Given the description of an element on the screen output the (x, y) to click on. 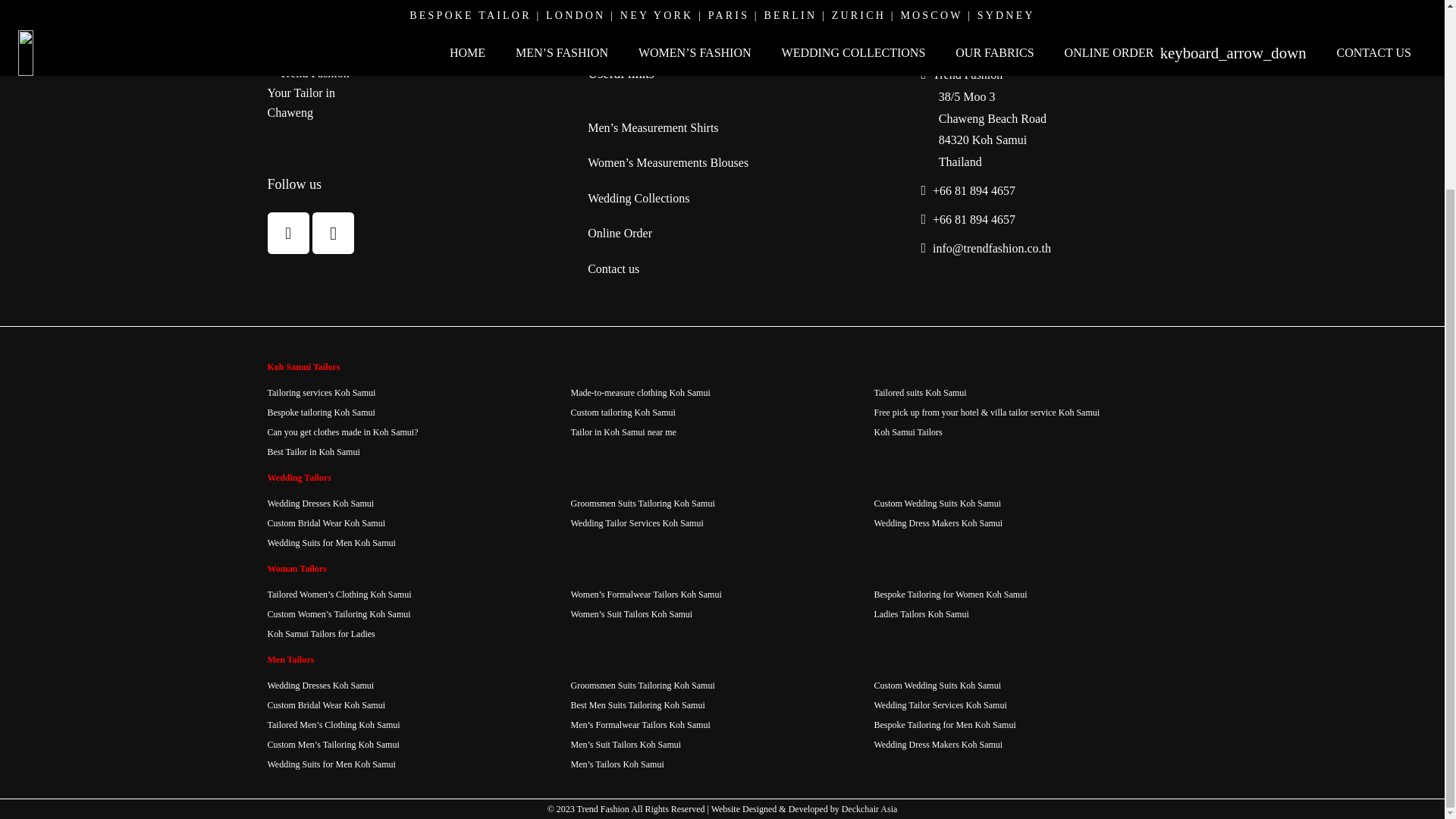
Tailor in Koh Samui near me (622, 431)
Contact us (613, 268)
Bespoke tailoring Koh Samui (320, 412)
Tailored suits Koh Samui (919, 392)
Can you get clothes made in Koh Samui? (341, 431)
Custom Wedding Suits Koh Samui (937, 502)
Tailoring services Koh Samui (320, 392)
Koh Samui Tailors (907, 431)
Wedding Dress Makers Koh Samui (938, 522)
Trend Fashion - Your Tailor in Chaweng (323, 97)
Facebook (287, 232)
Instagram (333, 232)
Wedding Dresses Koh Samui (320, 502)
Best Tailor in Koh Samui (312, 451)
Made-to-measure clothing Koh Samui (640, 392)
